Given the description of an element on the screen output the (x, y) to click on. 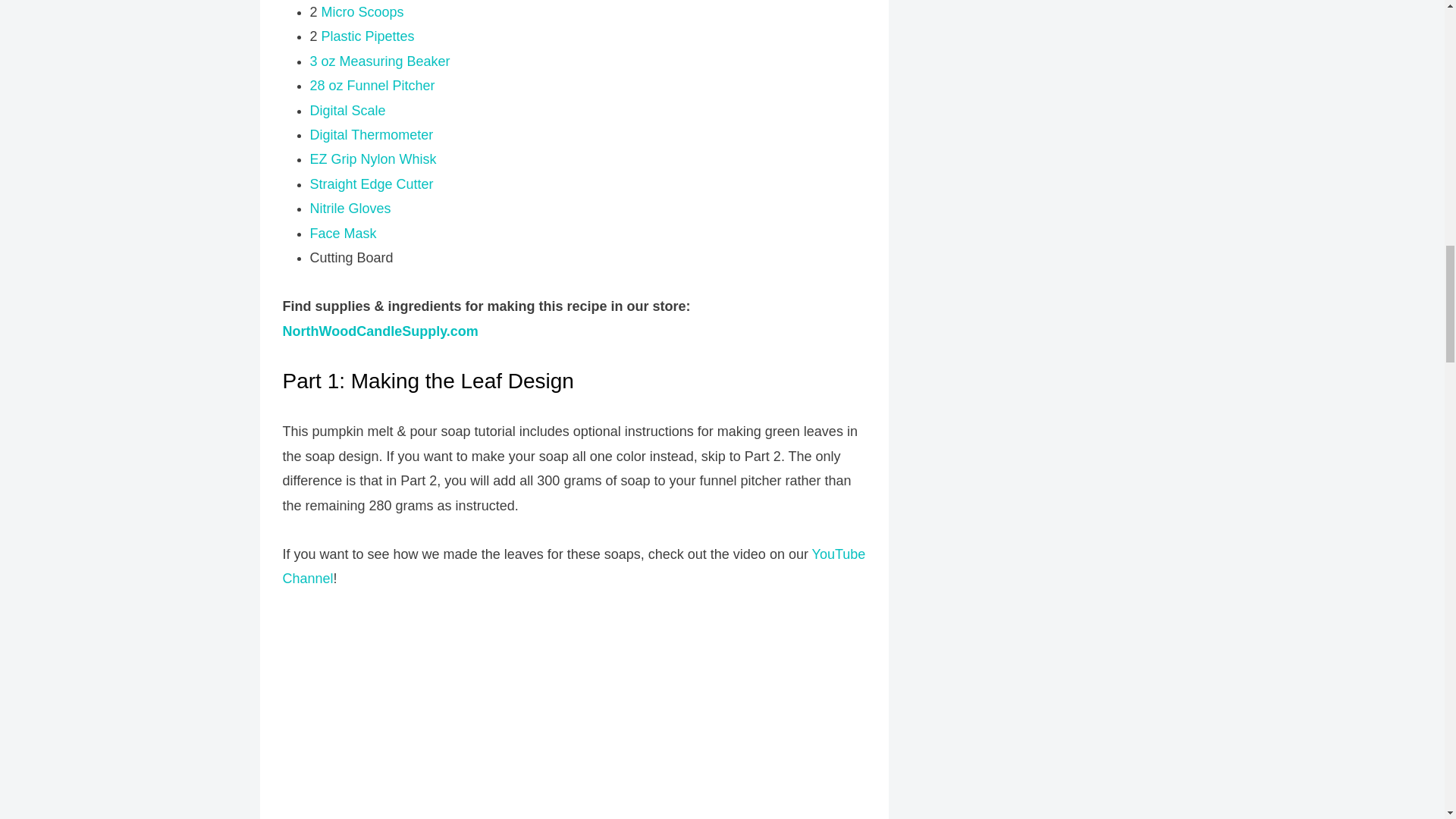
Digital Thermometer (370, 134)
28 oz Funnel Pitcher (370, 85)
EZ Grip Nylon Whisk (371, 159)
Face Mask (341, 233)
YouTube Channel (573, 566)
3 oz Measuring Beaker (378, 61)
Micro Scoops (362, 11)
Digital Scale (346, 110)
Nitrile Gloves (349, 208)
Straight Edge Cutter (370, 183)
